Given the description of an element on the screen output the (x, y) to click on. 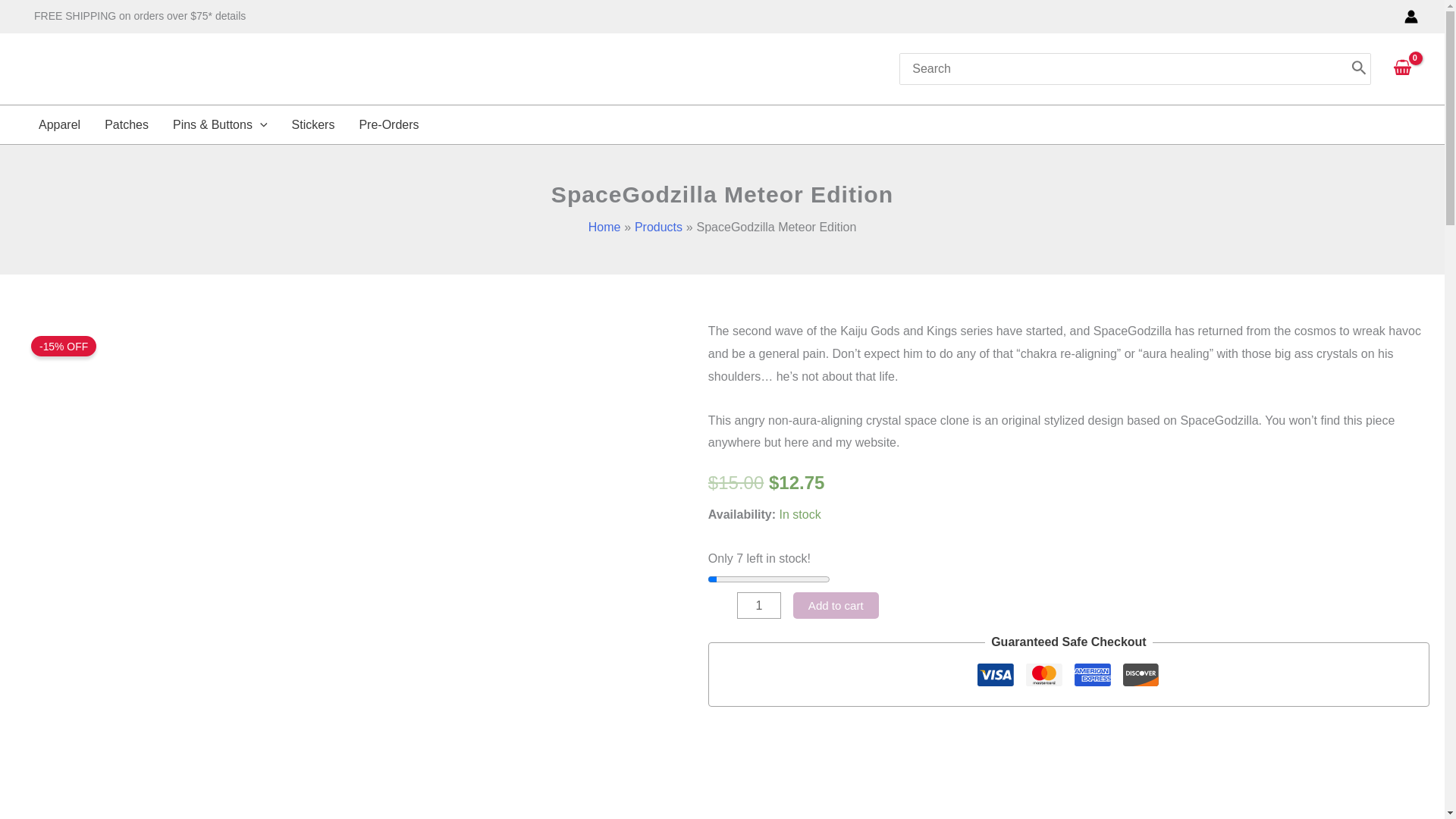
Products (658, 226)
Pre-Orders (388, 124)
Patches (126, 124)
Apparel (59, 124)
Add to cart (836, 605)
1 (758, 605)
Stickers (313, 124)
Home (604, 226)
